Given the description of an element on the screen output the (x, y) to click on. 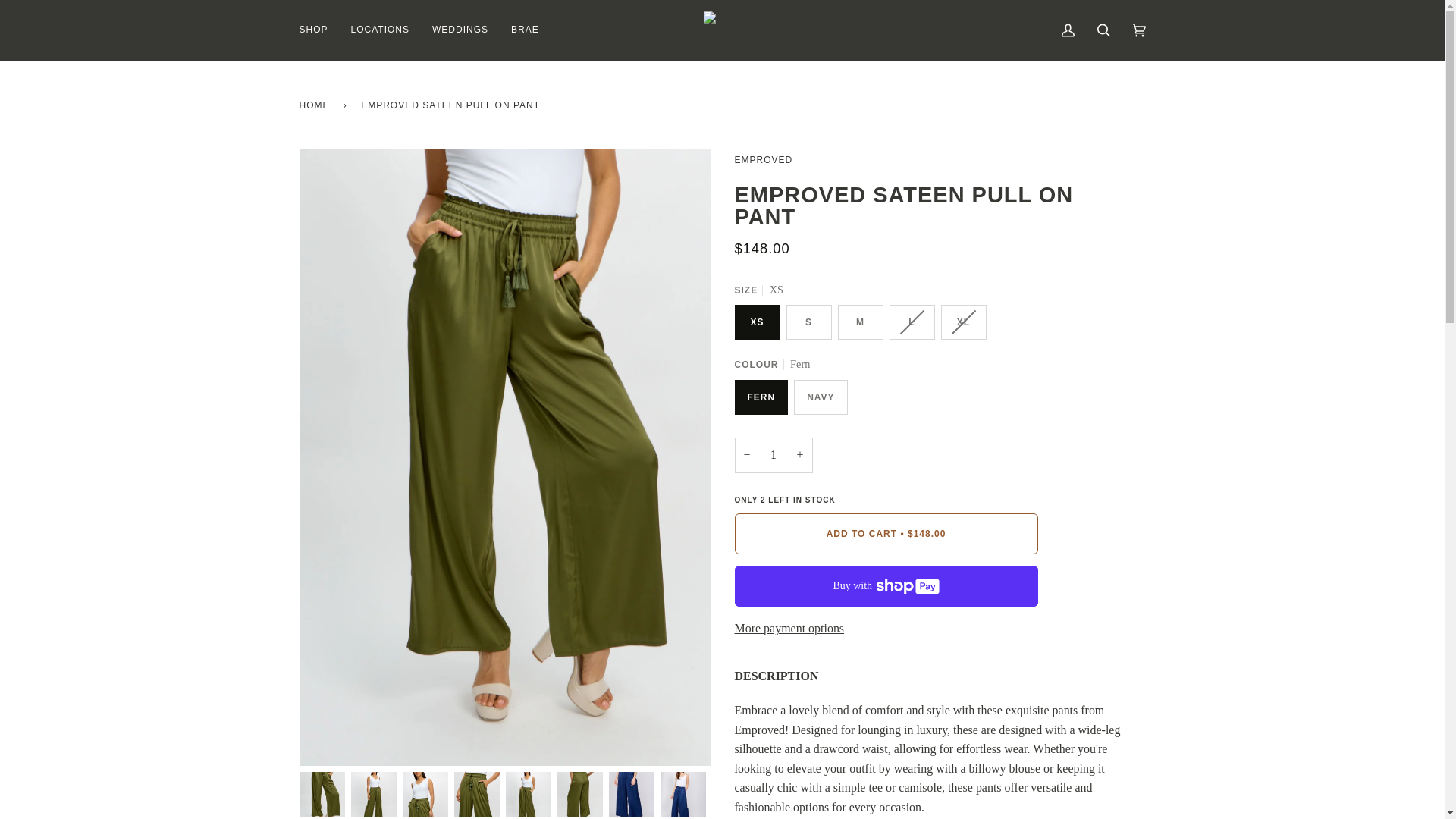
Back to the frontpage (316, 105)
WEDDINGS (459, 30)
LOCATIONS (379, 30)
1 (772, 455)
